Given the description of an element on the screen output the (x, y) to click on. 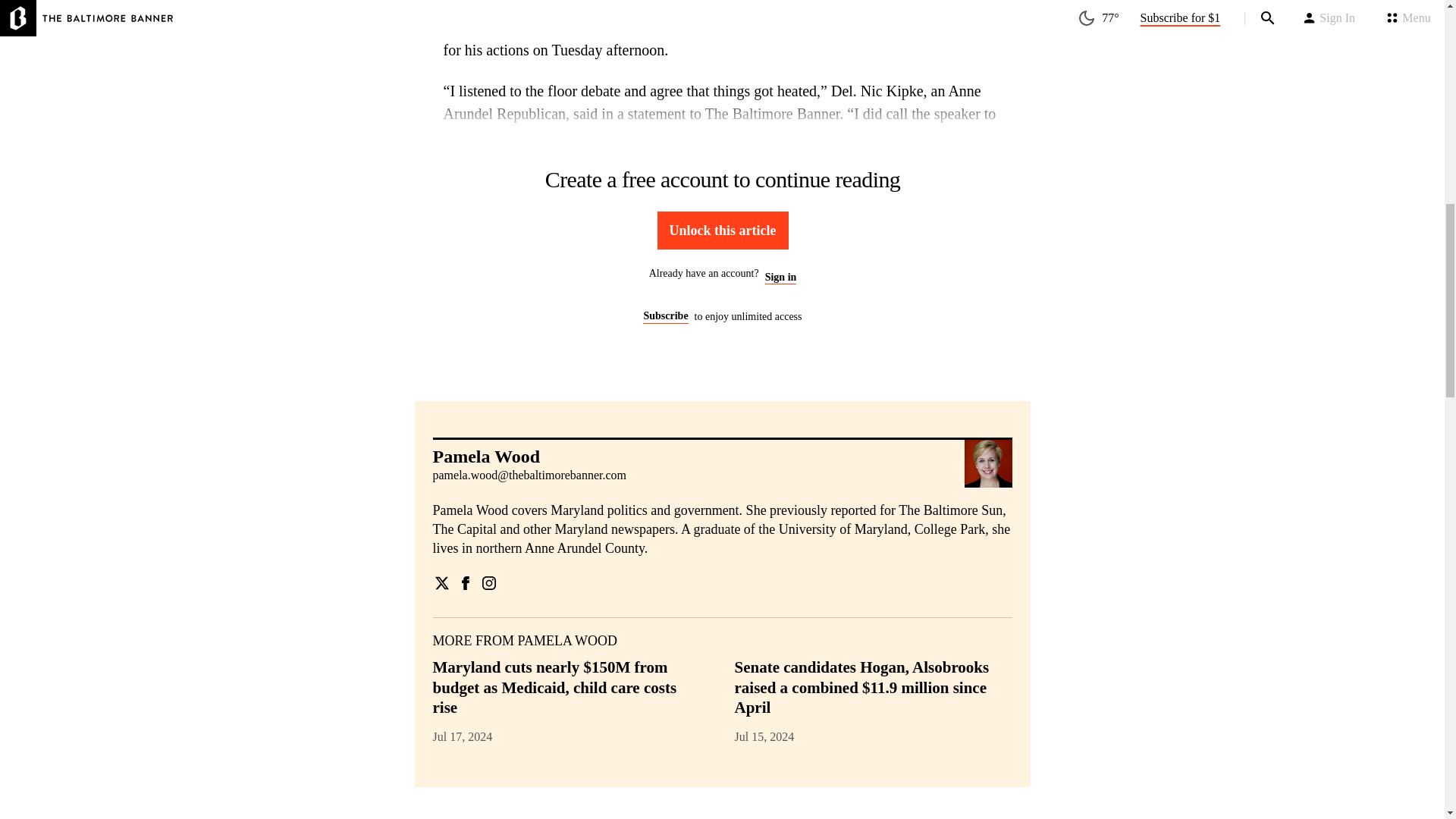
offer-0-umowo (721, 247)
